Given the description of an element on the screen output the (x, y) to click on. 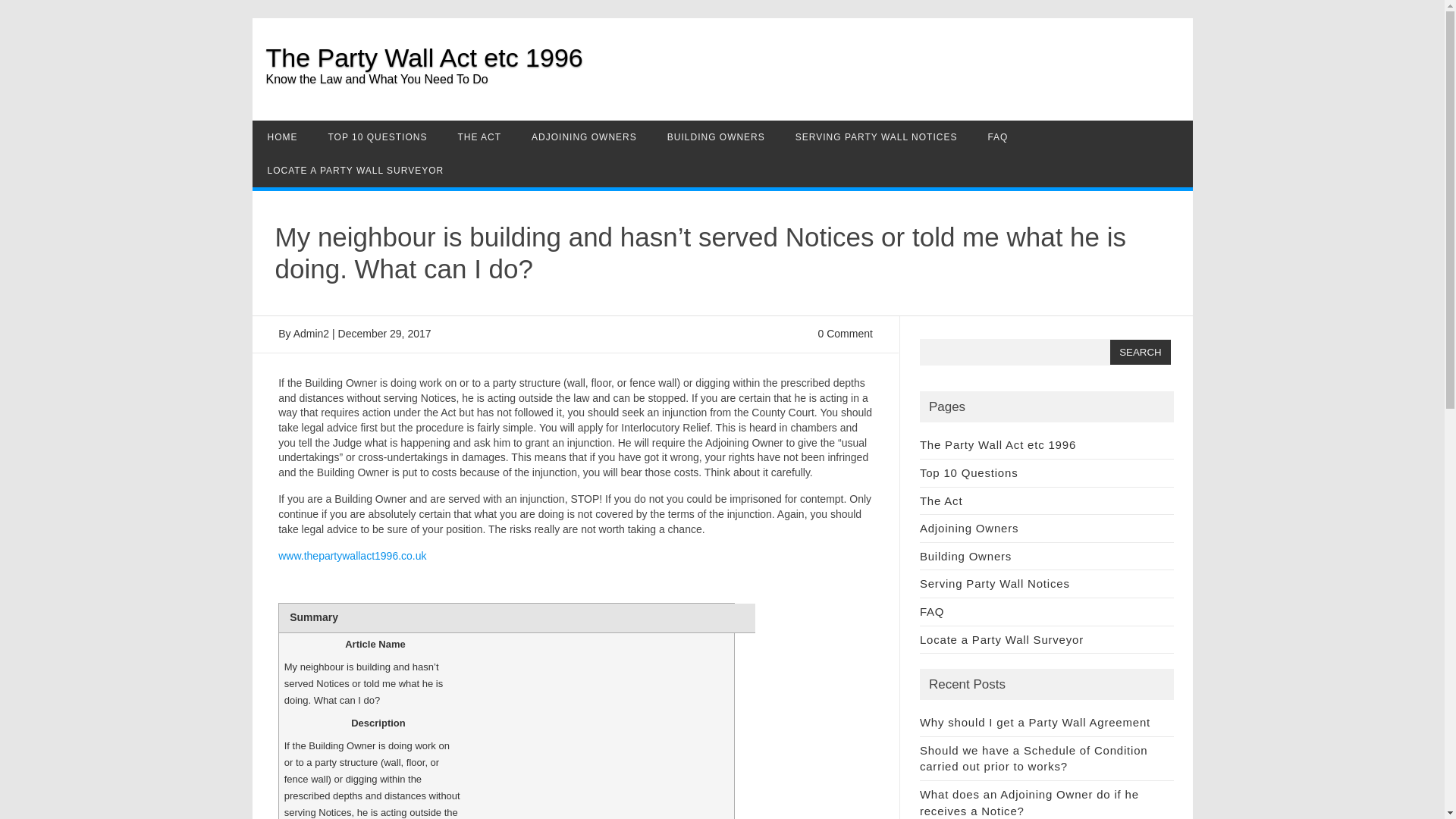
Know the Law and What You Need To Do (728, 88)
ADJOINING OWNERS (584, 136)
Serving Party Wall Notices (995, 583)
Admin2 (311, 333)
Building Owners (965, 555)
The Party Wall Act etc 1996 (423, 57)
Top 10 Questions (968, 472)
www.thepartywallact1996.co.uk (352, 555)
Adjoining Owners (968, 527)
SERVING PARTY WALL NOTICES (876, 136)
